Given the description of an element on the screen output the (x, y) to click on. 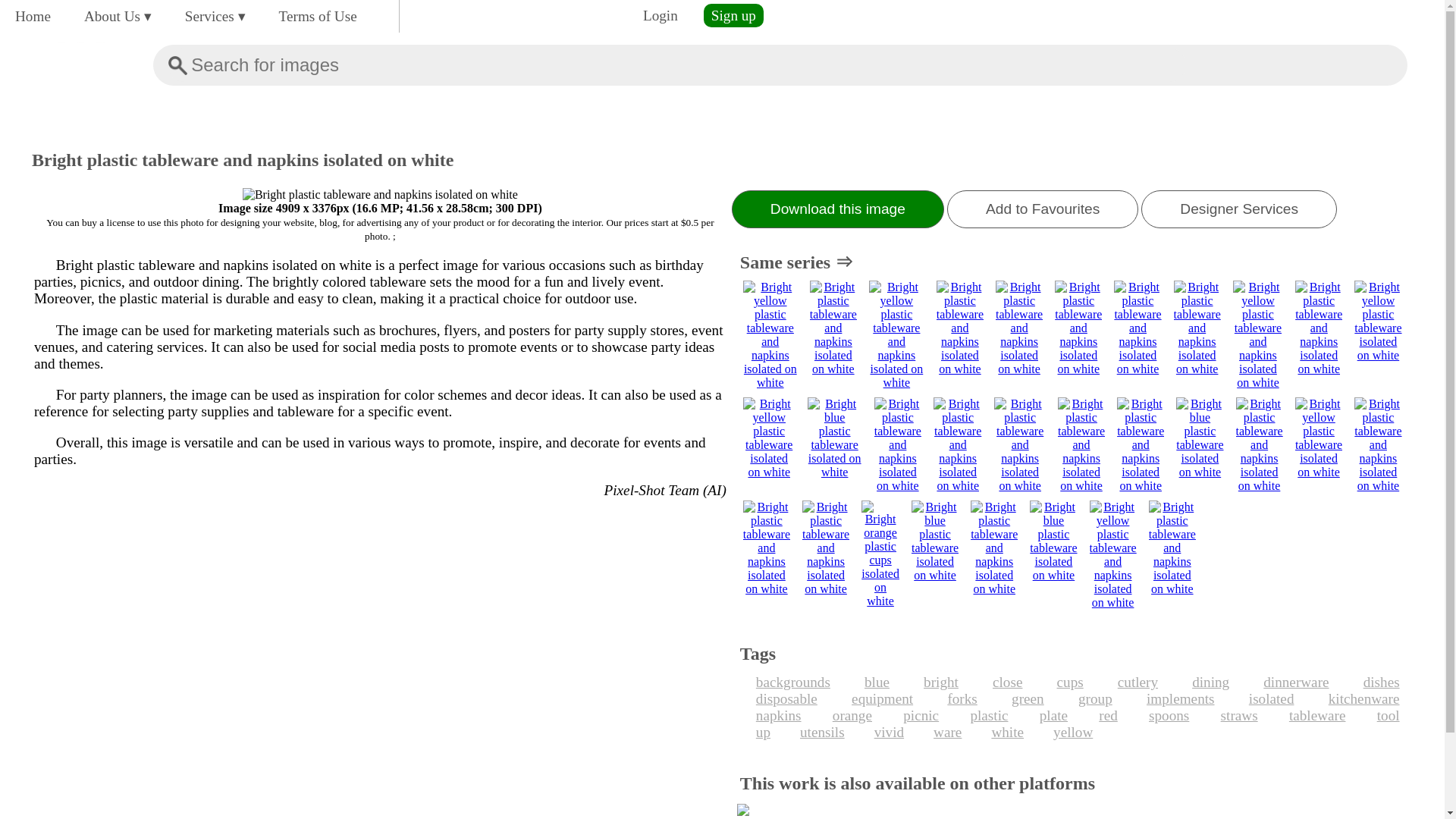
Add to Favourites (1042, 209)
About us (117, 15)
Login to your account using your email and password (659, 15)
Download this image (837, 209)
Designer Services (1238, 209)
Home (32, 15)
Terms of Use (317, 15)
Login (659, 15)
Bright plastic tableware and napkins isolated on white (380, 194)
Sign up (732, 15)
Terms of Use (317, 15)
Buyer registration (732, 15)
Home (32, 15)
